Given the description of an element on the screen output the (x, y) to click on. 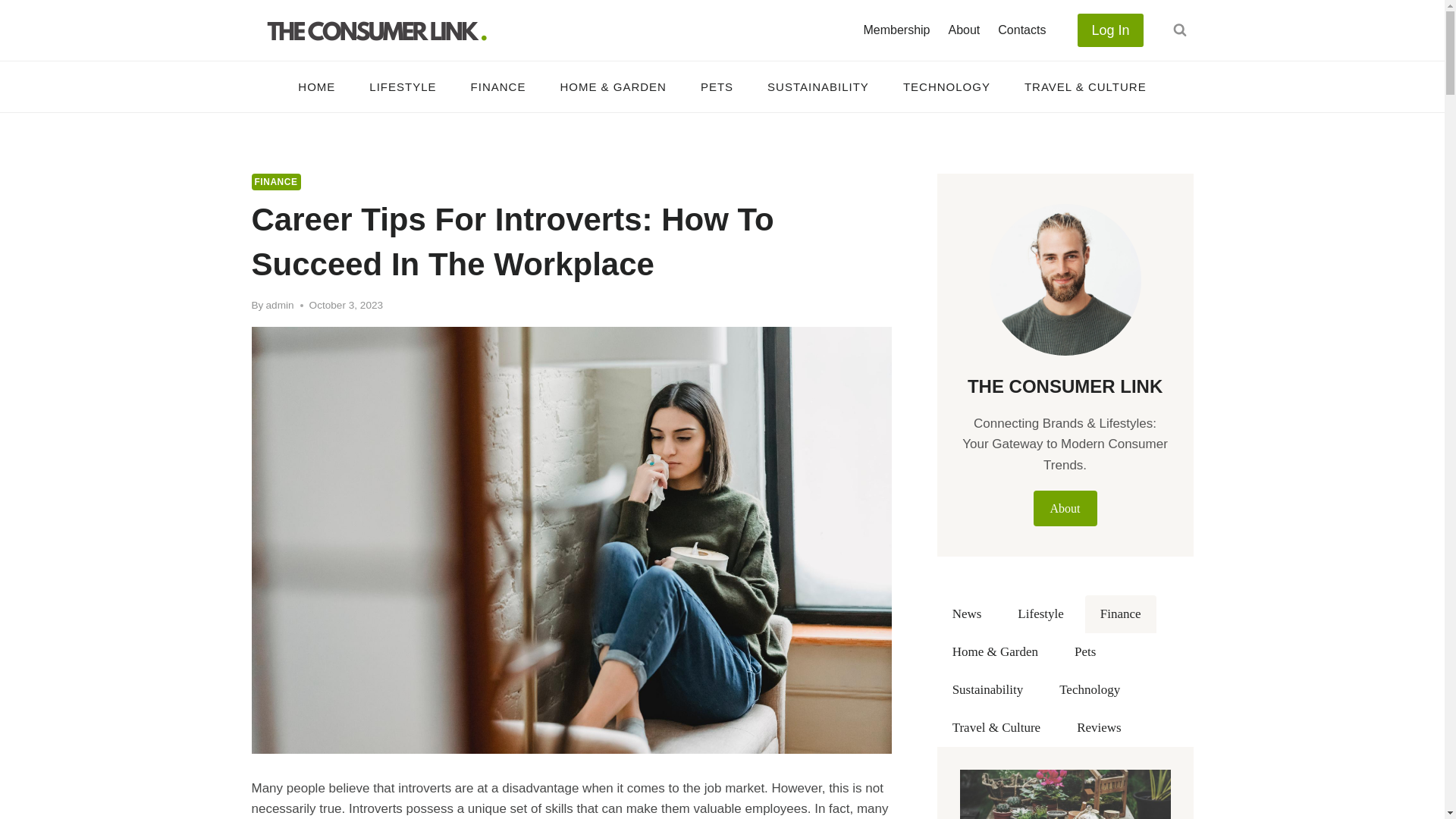
Membership (896, 30)
Log In (1109, 29)
TECHNOLOGY (946, 86)
FINANCE (276, 181)
FINANCE (497, 86)
SUSTAINABILITY (818, 86)
LIFESTYLE (402, 86)
Contacts (1021, 30)
About (963, 30)
HOME (316, 86)
admin (280, 305)
PETS (715, 86)
